Given the description of an element on the screen output the (x, y) to click on. 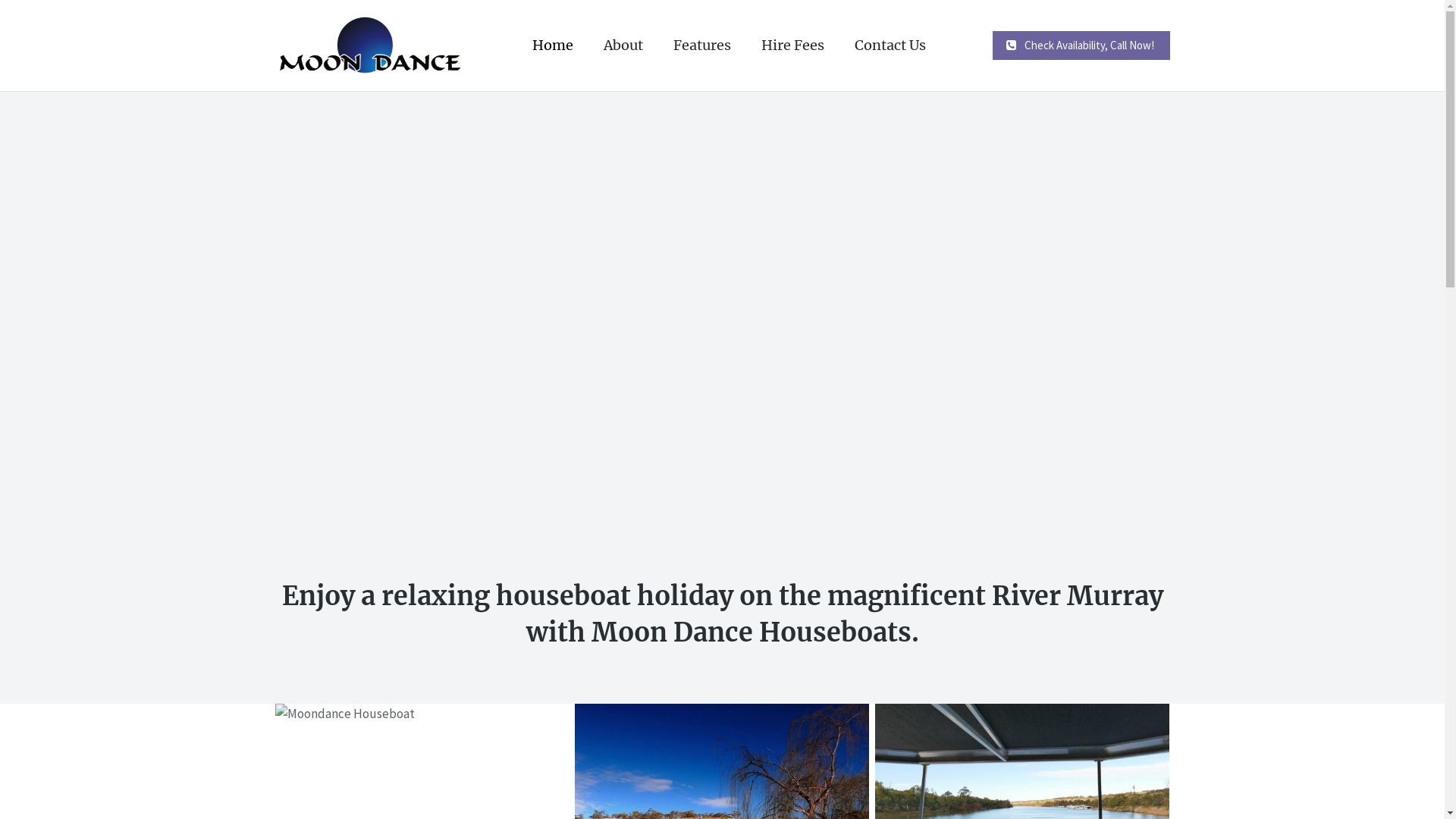
Check Availability, Call Now! Element type: text (1080, 45)
Features Element type: text (702, 45)
Hire Fees Element type: text (792, 45)
About Element type: text (623, 45)
Contact Us Element type: text (890, 45)
Home Element type: text (552, 45)
